Given the description of an element on the screen output the (x, y) to click on. 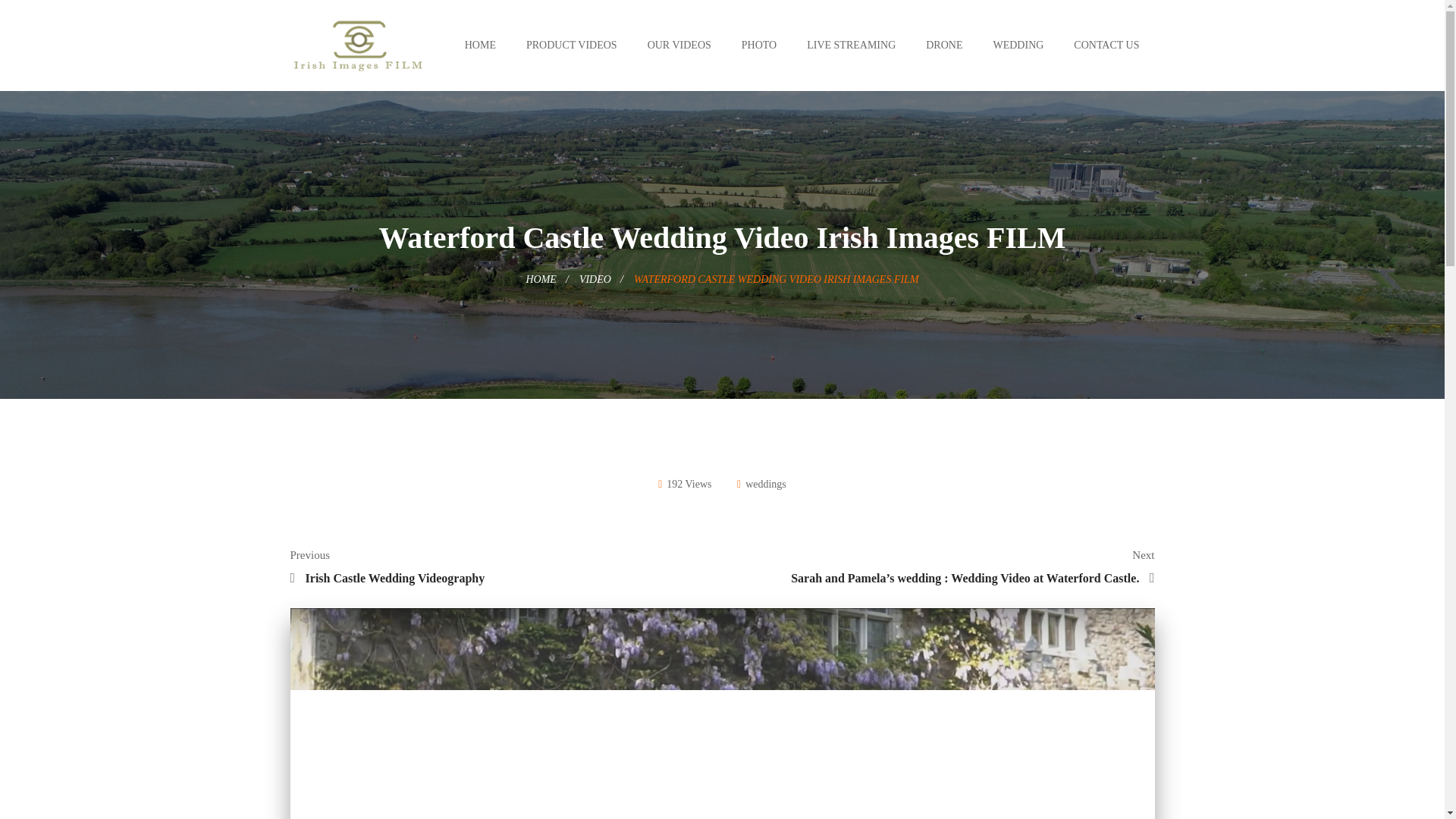
Video (595, 279)
PRODUCT VIDEOS (571, 45)
OUR VIDEOS (678, 45)
